Given the description of an element on the screen output the (x, y) to click on. 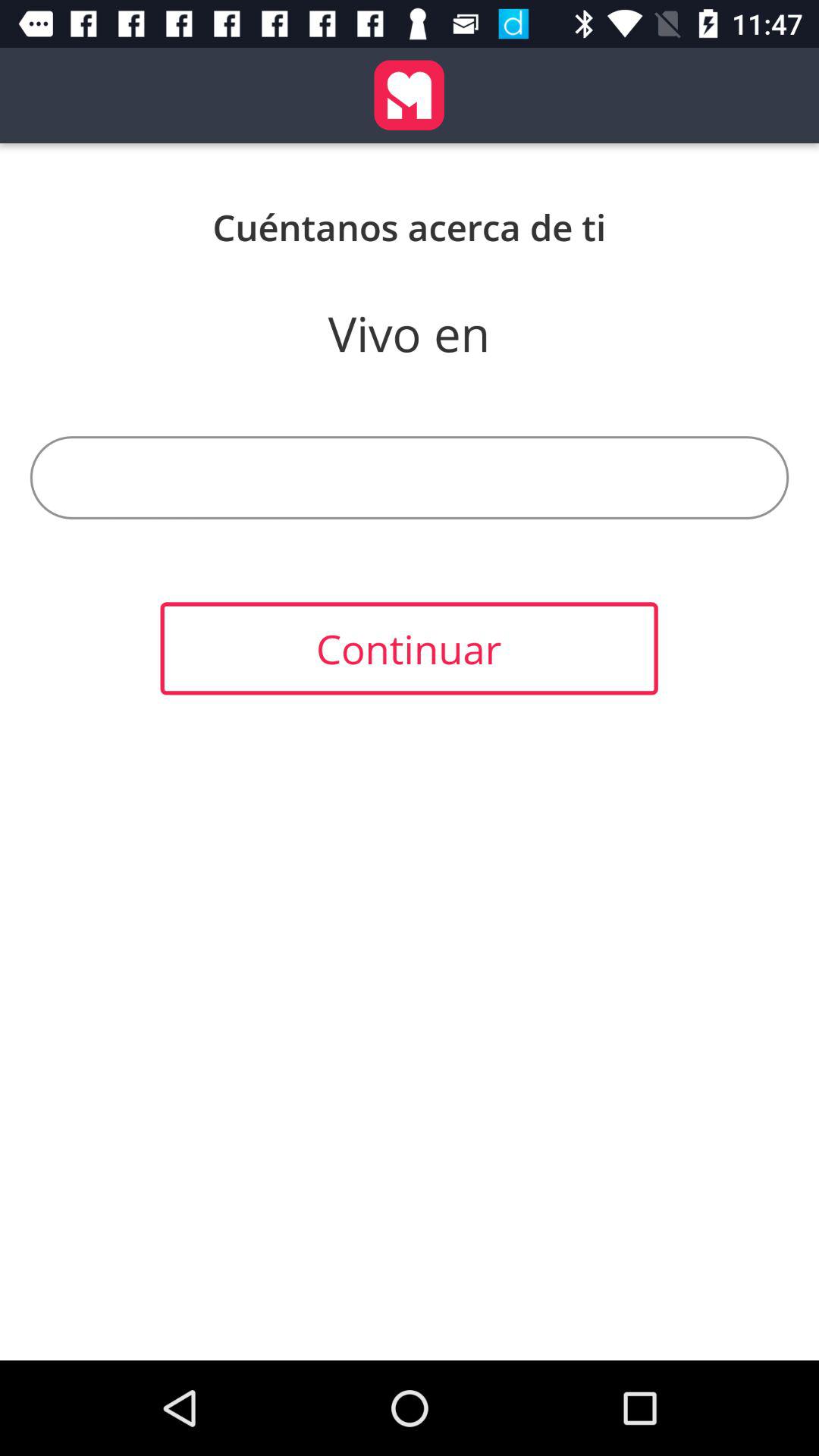
scroll until continuar icon (409, 648)
